Given the description of an element on the screen output the (x, y) to click on. 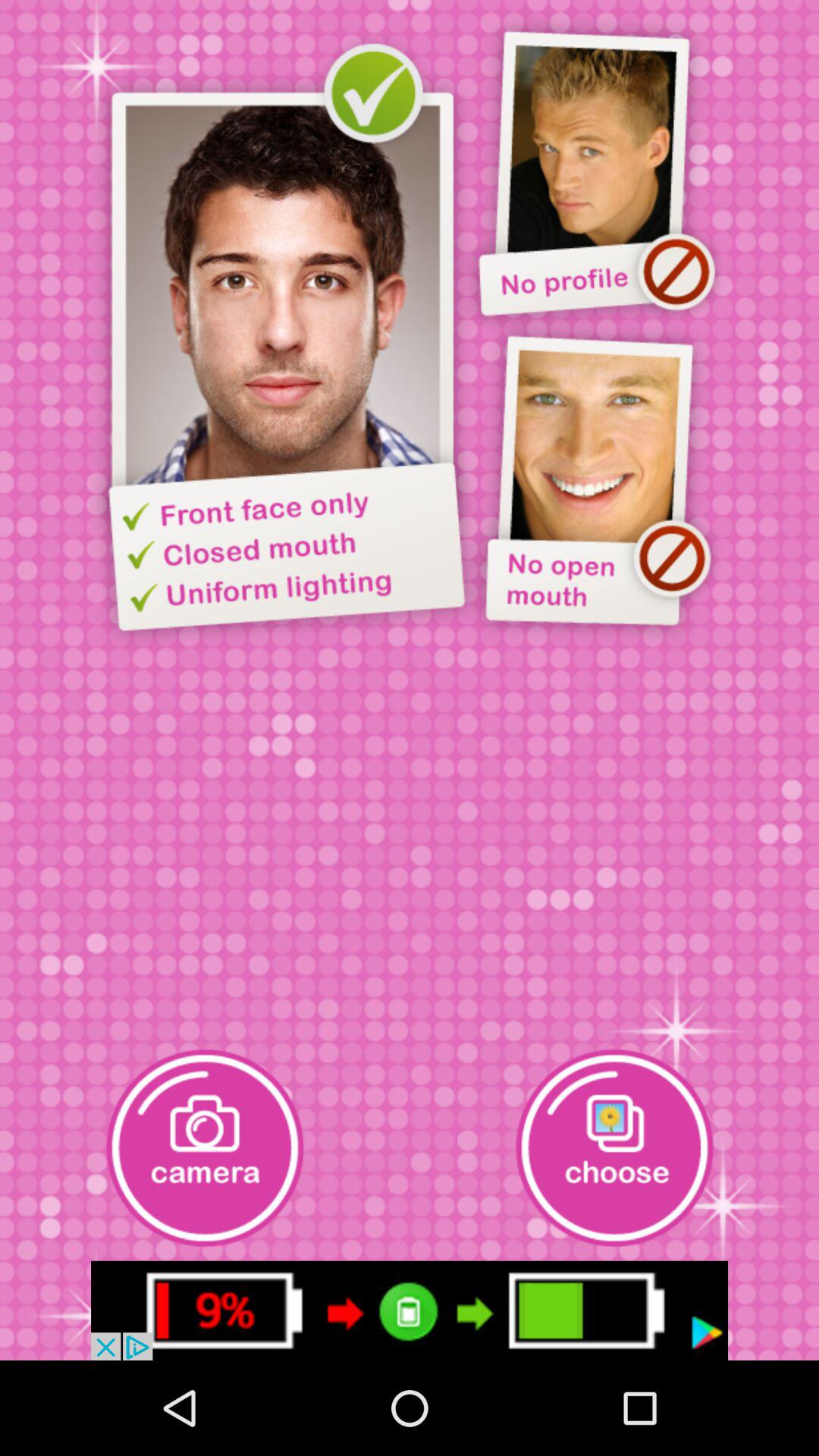
open camera (204, 1147)
